Given the description of an element on the screen output the (x, y) to click on. 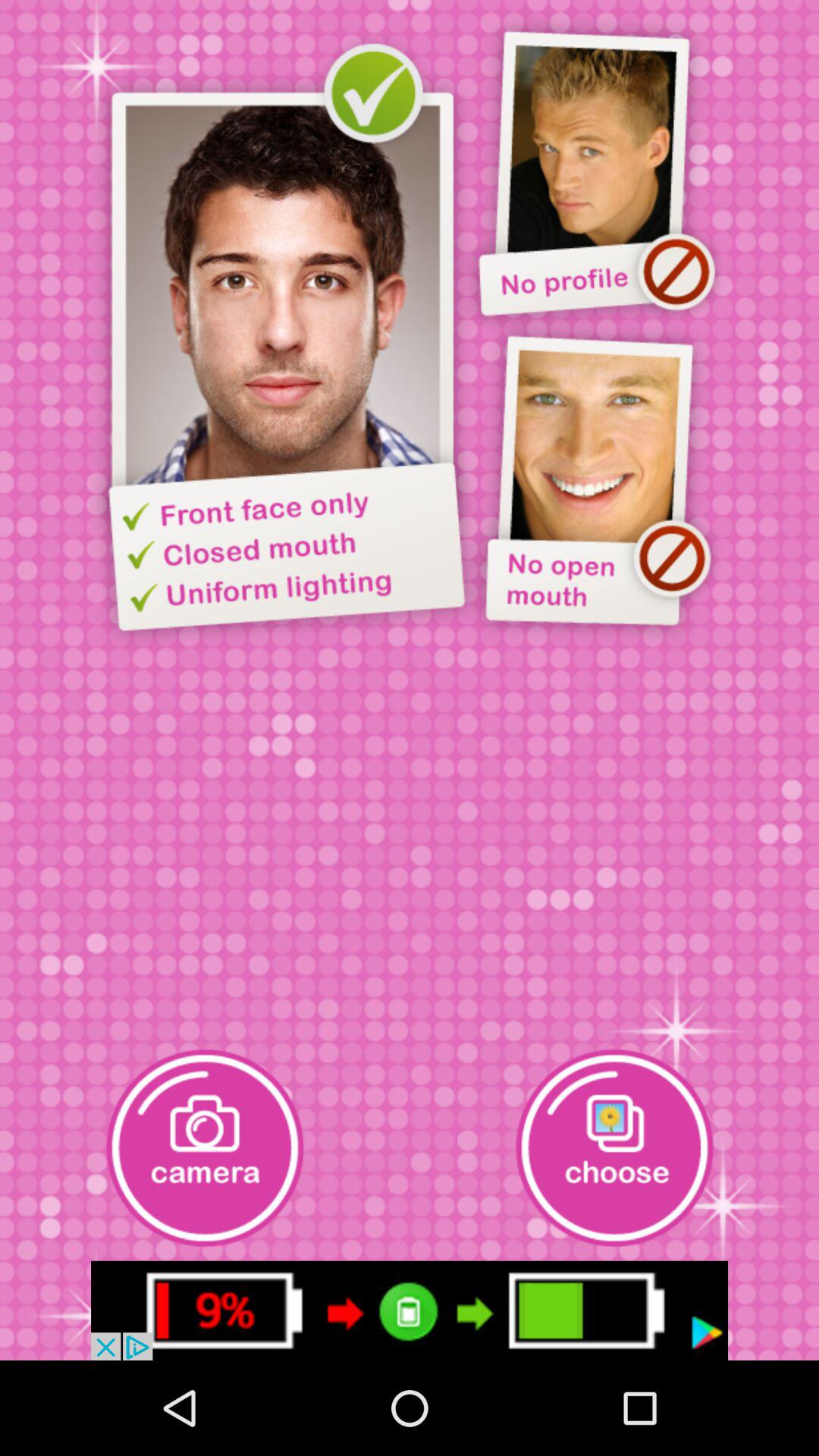
open camera (204, 1147)
